Given the description of an element on the screen output the (x, y) to click on. 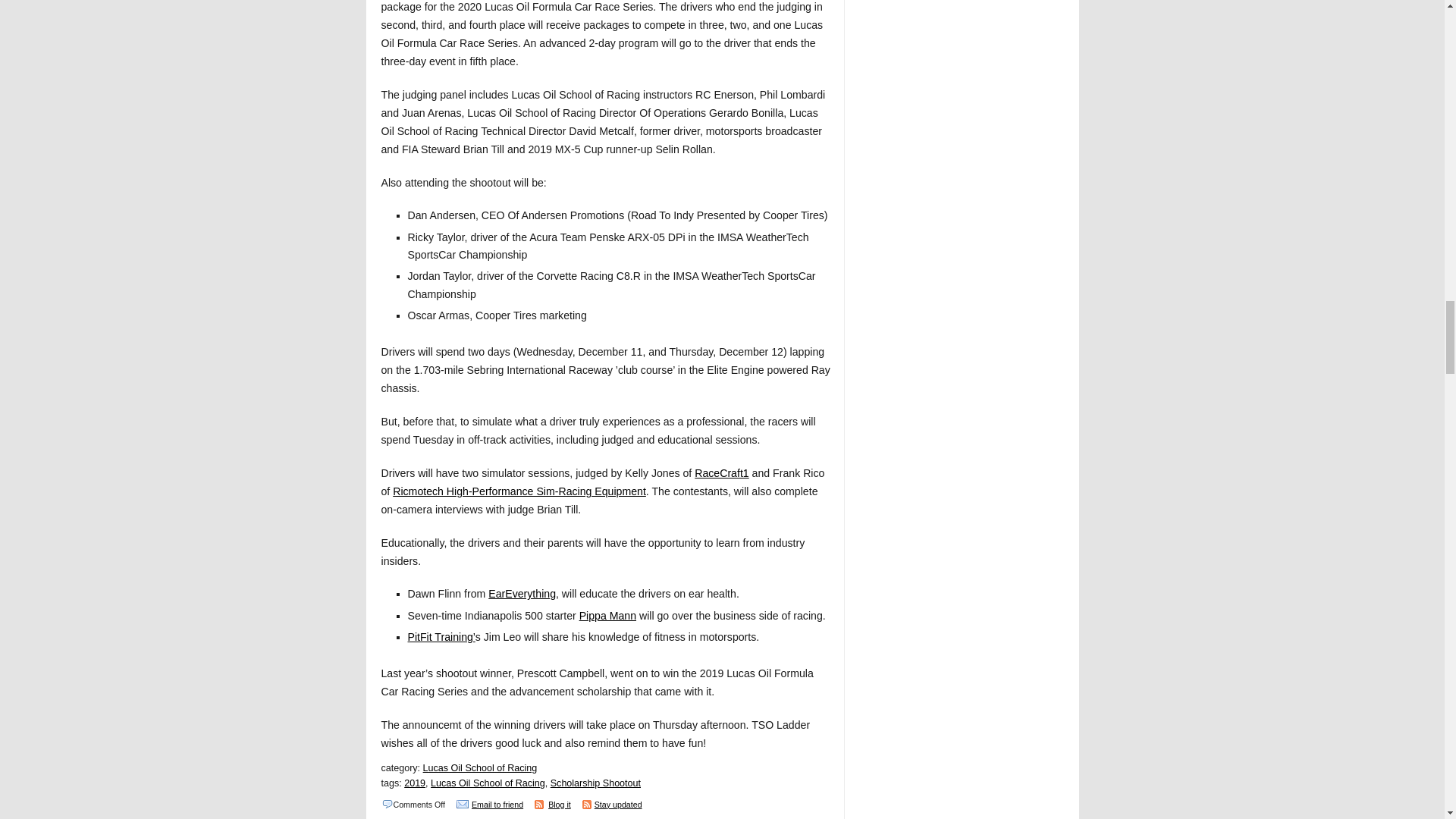
RaceCraft1 (721, 472)
Email to friend (496, 804)
Blog it (559, 804)
Ricmotech High-Performance Sim-Racing Equipment (519, 491)
Pippa Mann (607, 615)
Lucas Oil School of Racing (487, 783)
EarEverything (521, 593)
Stay updated (618, 804)
Lucas Oil School of Racing (480, 767)
Scholarship Shootout (595, 783)
